Given the description of an element on the screen output the (x, y) to click on. 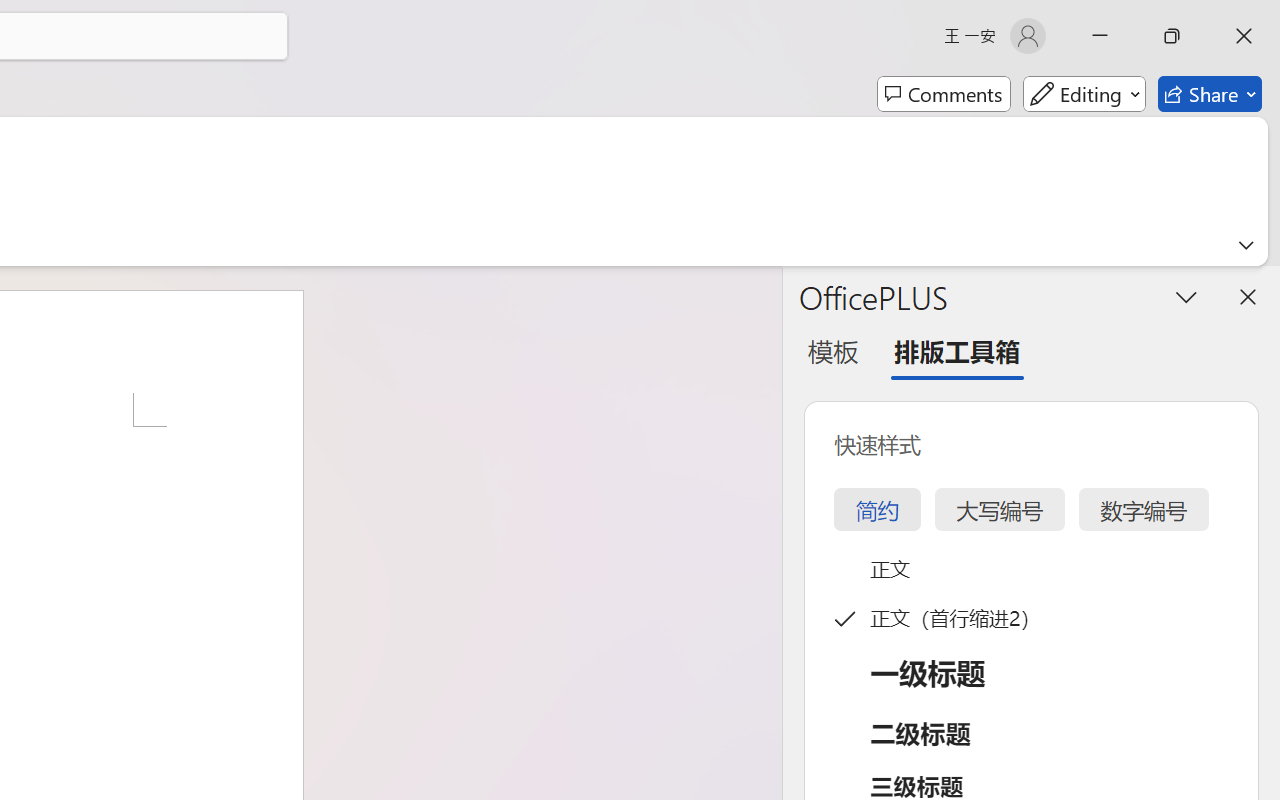
Task Pane Options (1186, 296)
